Given the description of an element on the screen output the (x, y) to click on. 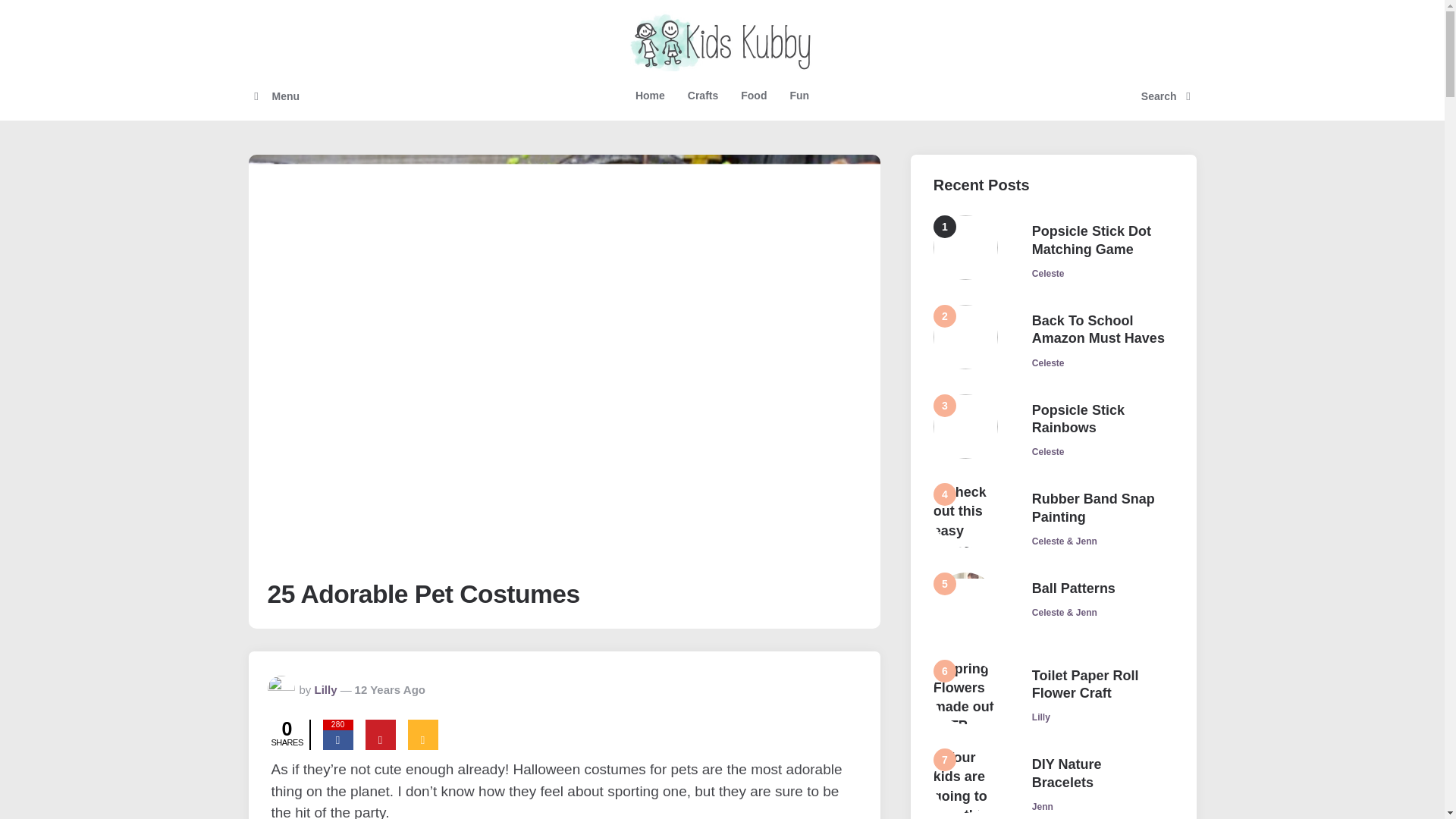
Lilly (325, 689)
Home (650, 96)
Crafts (703, 96)
Fun (799, 96)
Food (753, 96)
